Given the description of an element on the screen output the (x, y) to click on. 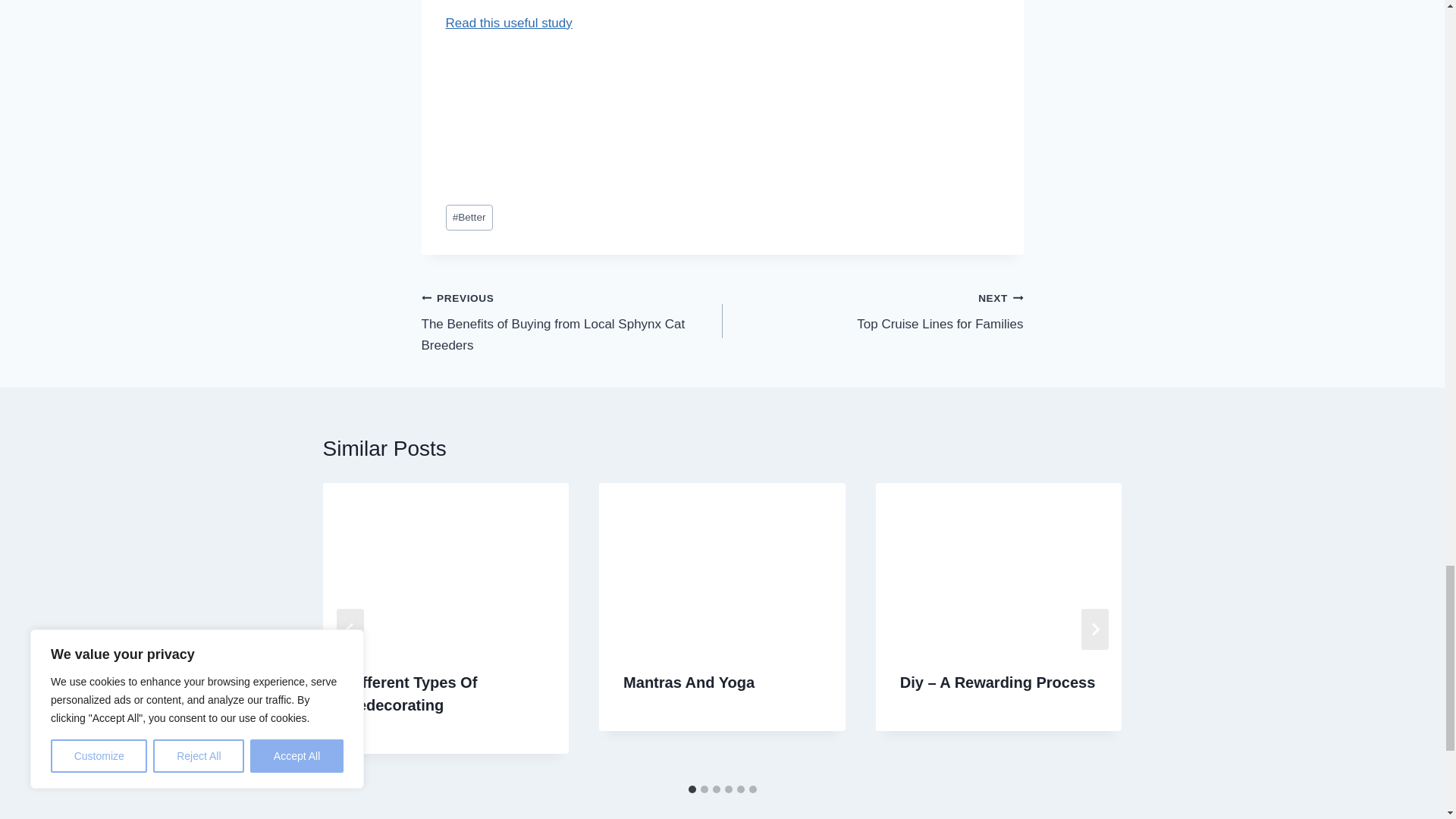
Read this useful study (508, 22)
Better (469, 124)
Experience the Wonders of Nile River Cruises (720, 599)
